Given the description of an element on the screen output the (x, y) to click on. 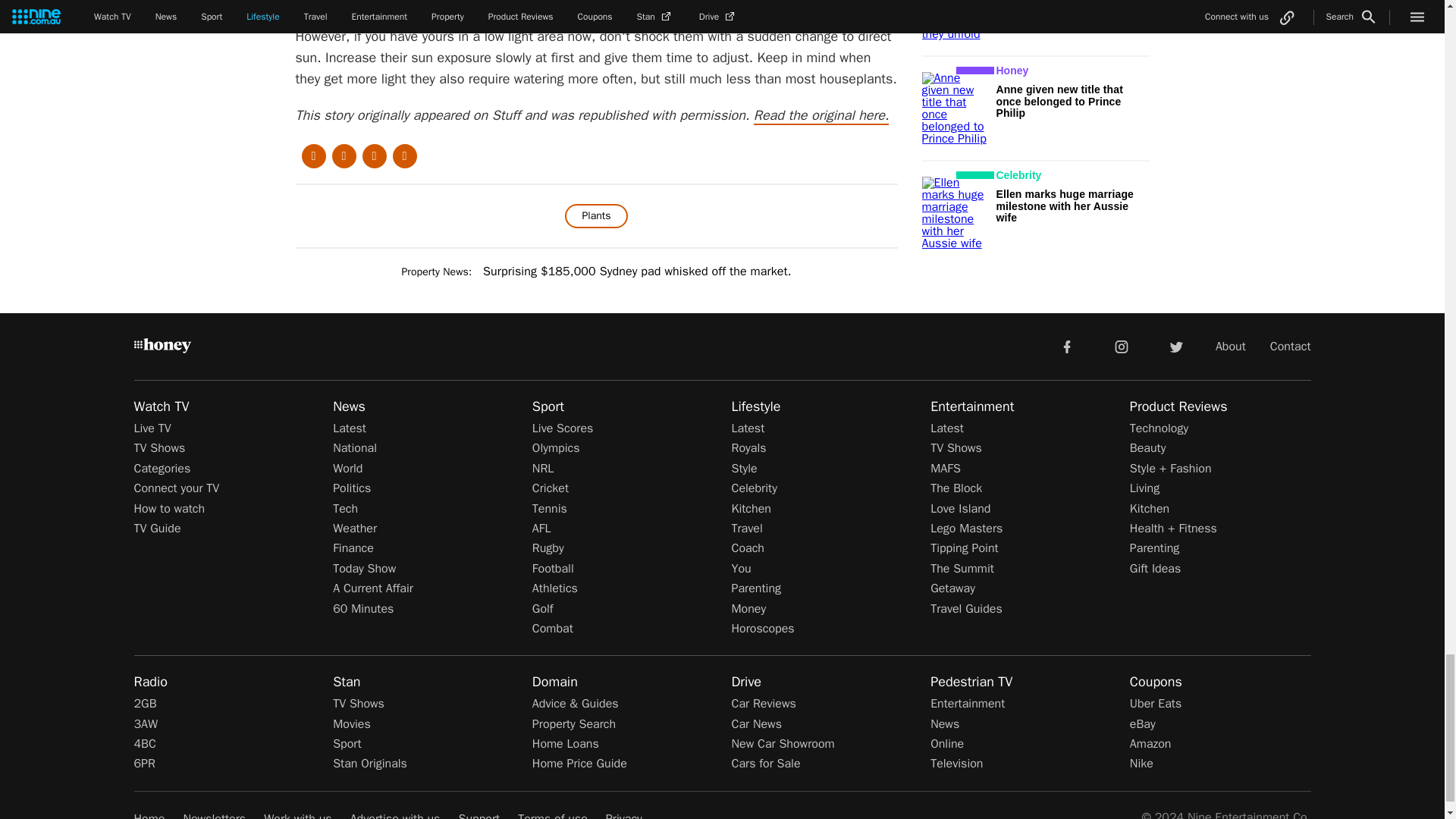
Read the original here. (821, 116)
facebook (1066, 345)
twitter (1175, 345)
instagram (1121, 345)
Read the original here. (821, 116)
